Given the description of an element on the screen output the (x, y) to click on. 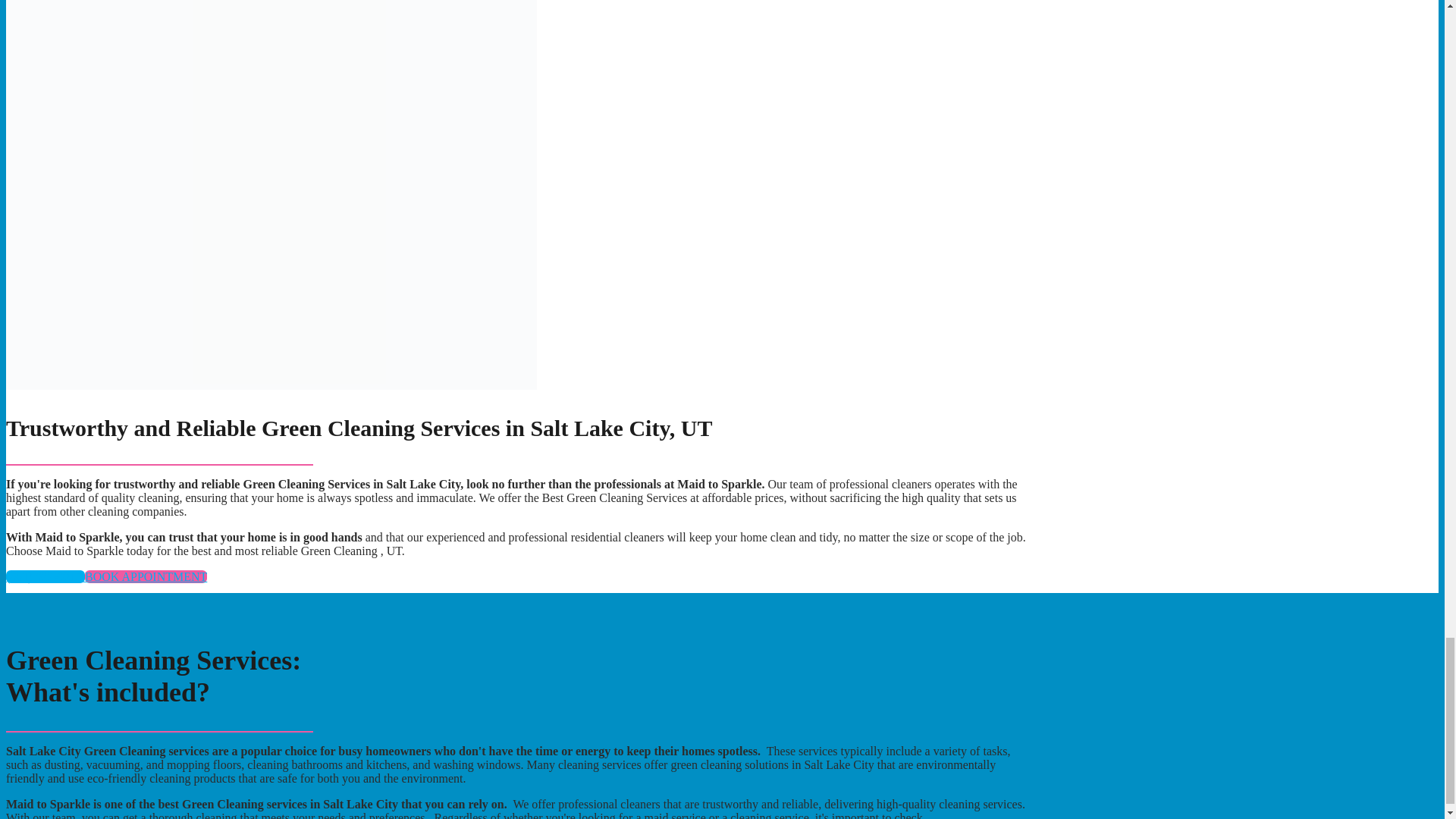
BOOK APPOINTMENT (145, 576)
